Given the description of an element on the screen output the (x, y) to click on. 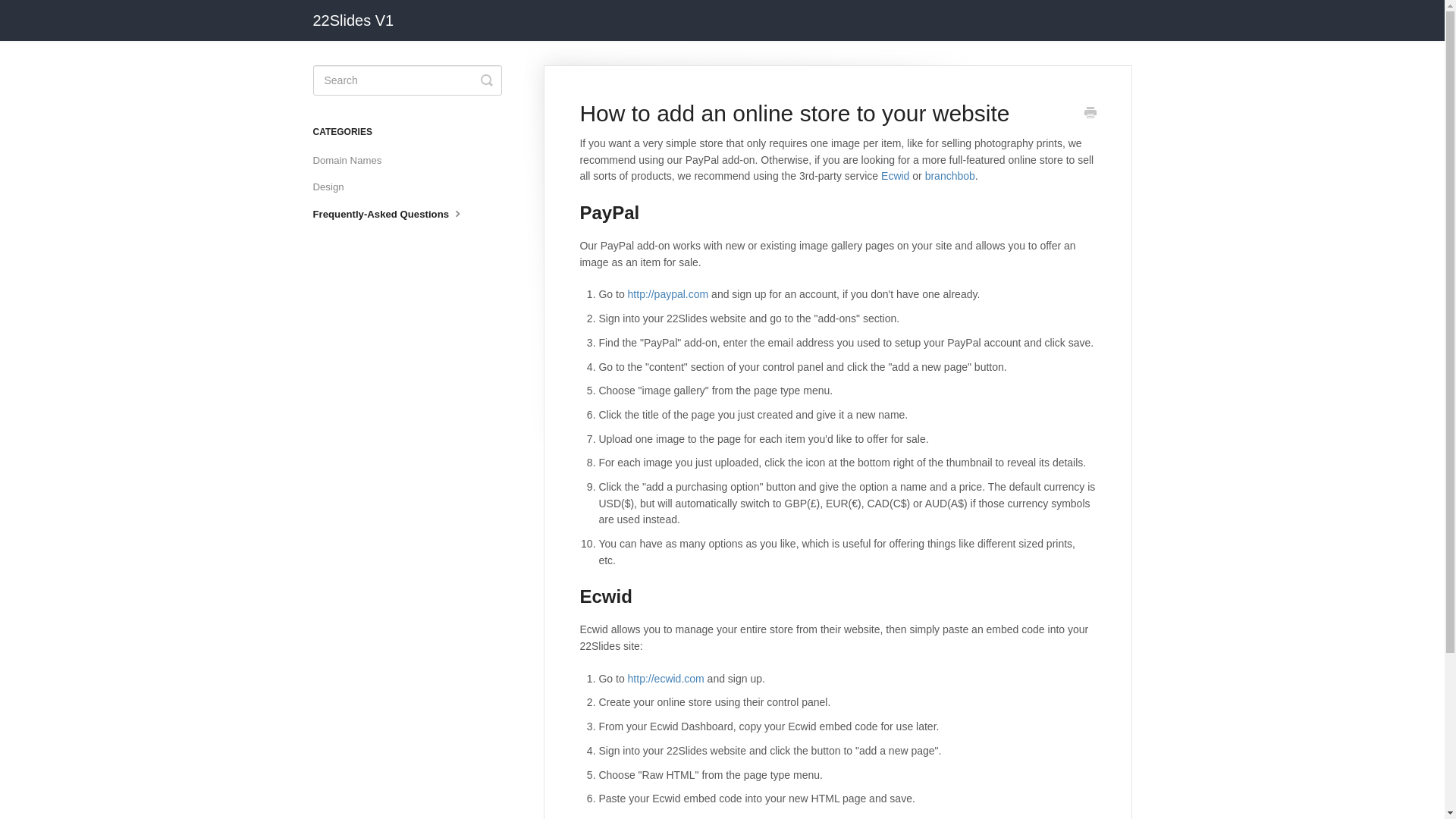
Print this article Element type: hover (1090, 114)
http://ecwid.com Element type: text (665, 678)
Frequently-Asked Questions Element type: text (394, 213)
search-query Element type: hover (406, 80)
http://paypal.com Element type: text (668, 294)
Toggle Search Element type: text (486, 80)
22Slides V1 Element type: text (360, 20)
branchbob Element type: text (950, 175)
Design Element type: text (333, 187)
Domain Names Element type: text (352, 160)
Ecwid Element type: text (895, 175)
